Given the description of an element on the screen output the (x, y) to click on. 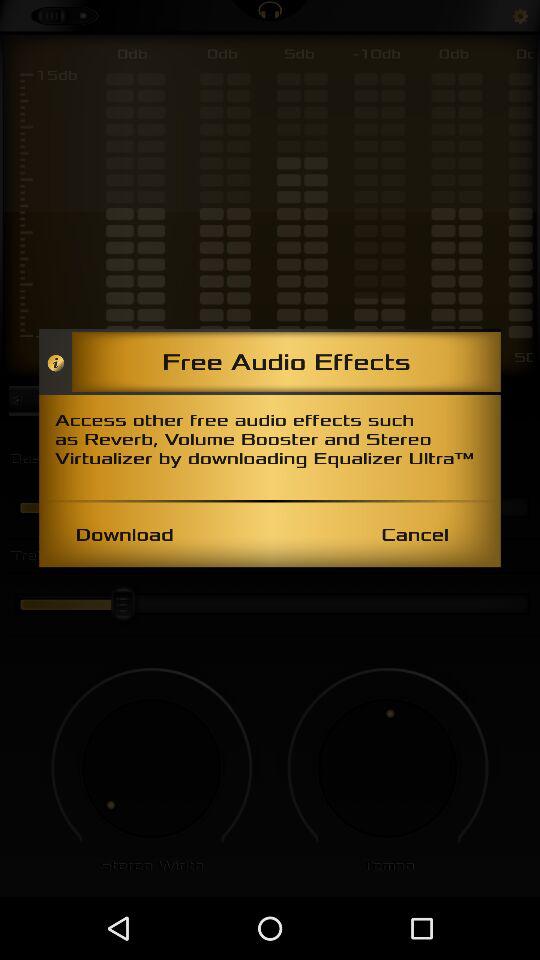
turn on the item to the right of the download item (414, 534)
